Given the description of an element on the screen output the (x, y) to click on. 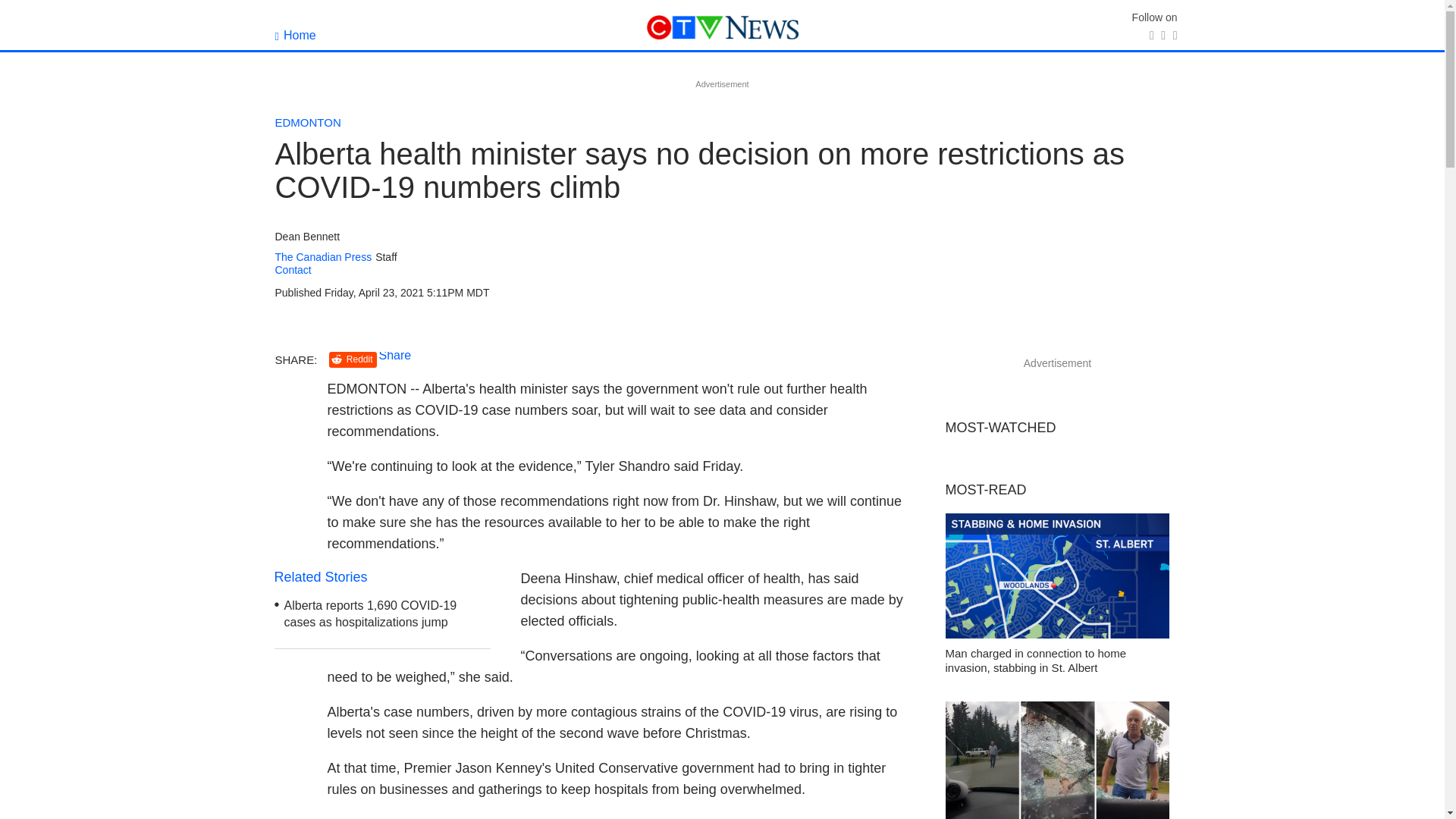
Contact (293, 269)
EDMONTON (307, 122)
Reddit (353, 359)
Share (395, 354)
The Canadian Press (323, 256)
Home (295, 34)
